Given the description of an element on the screen output the (x, y) to click on. 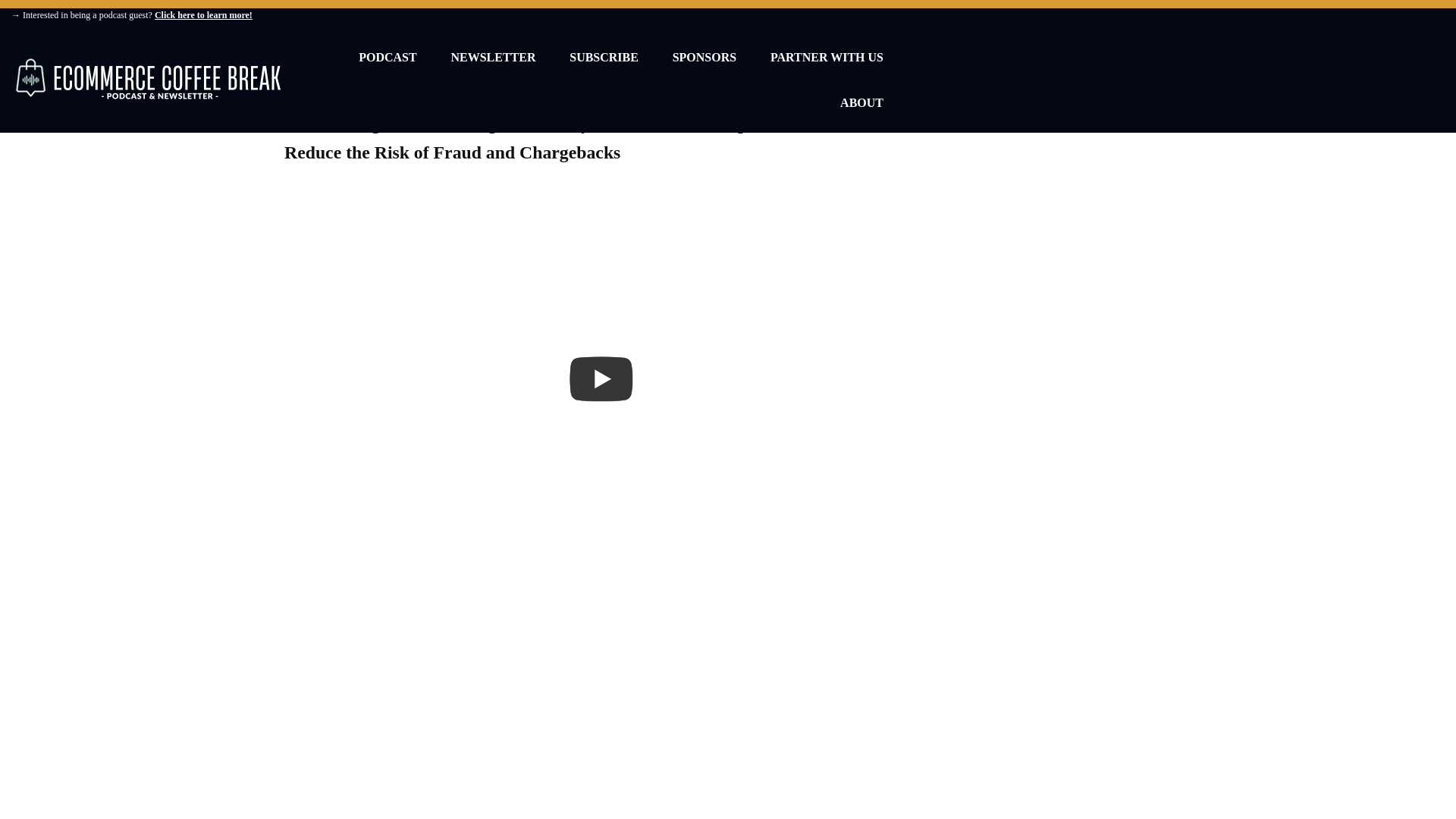
SPONSORS (704, 63)
SUBSCRIBE (603, 63)
Click here to learn more! (202, 14)
PARTNER WITH US (826, 63)
PODCAST (386, 63)
NEWSLETTER (492, 63)
ABOUT (861, 109)
